Given the description of an element on the screen output the (x, y) to click on. 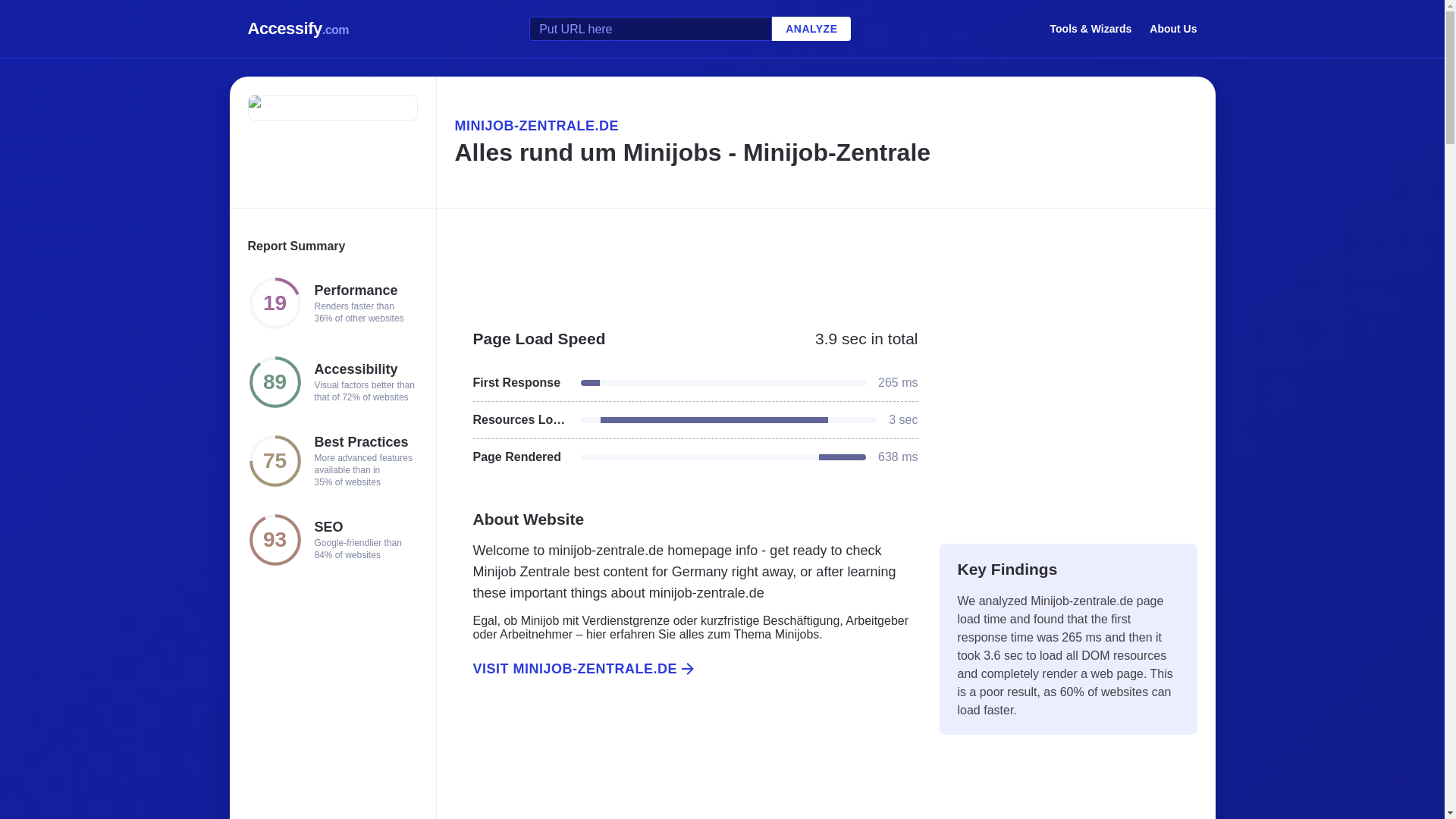
MINIJOB-ZENTRALE.DE (825, 126)
VISIT MINIJOB-ZENTRALE.DE (686, 669)
ANALYZE (810, 28)
About Us (1173, 28)
Accessify.com (298, 28)
